Given the description of an element on the screen output the (x, y) to click on. 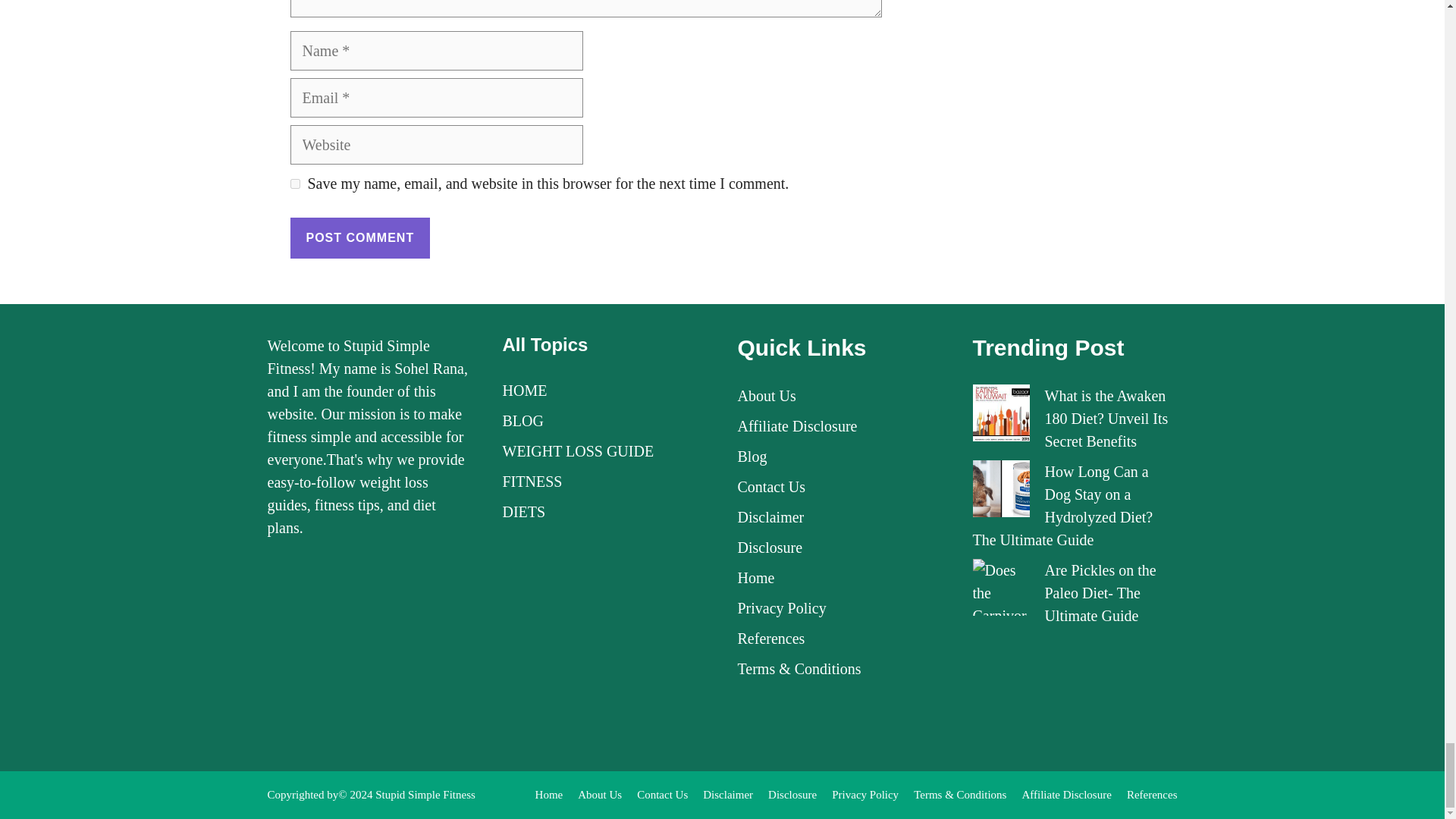
yes (294, 184)
Post Comment (359, 237)
